Given the description of an element on the screen output the (x, y) to click on. 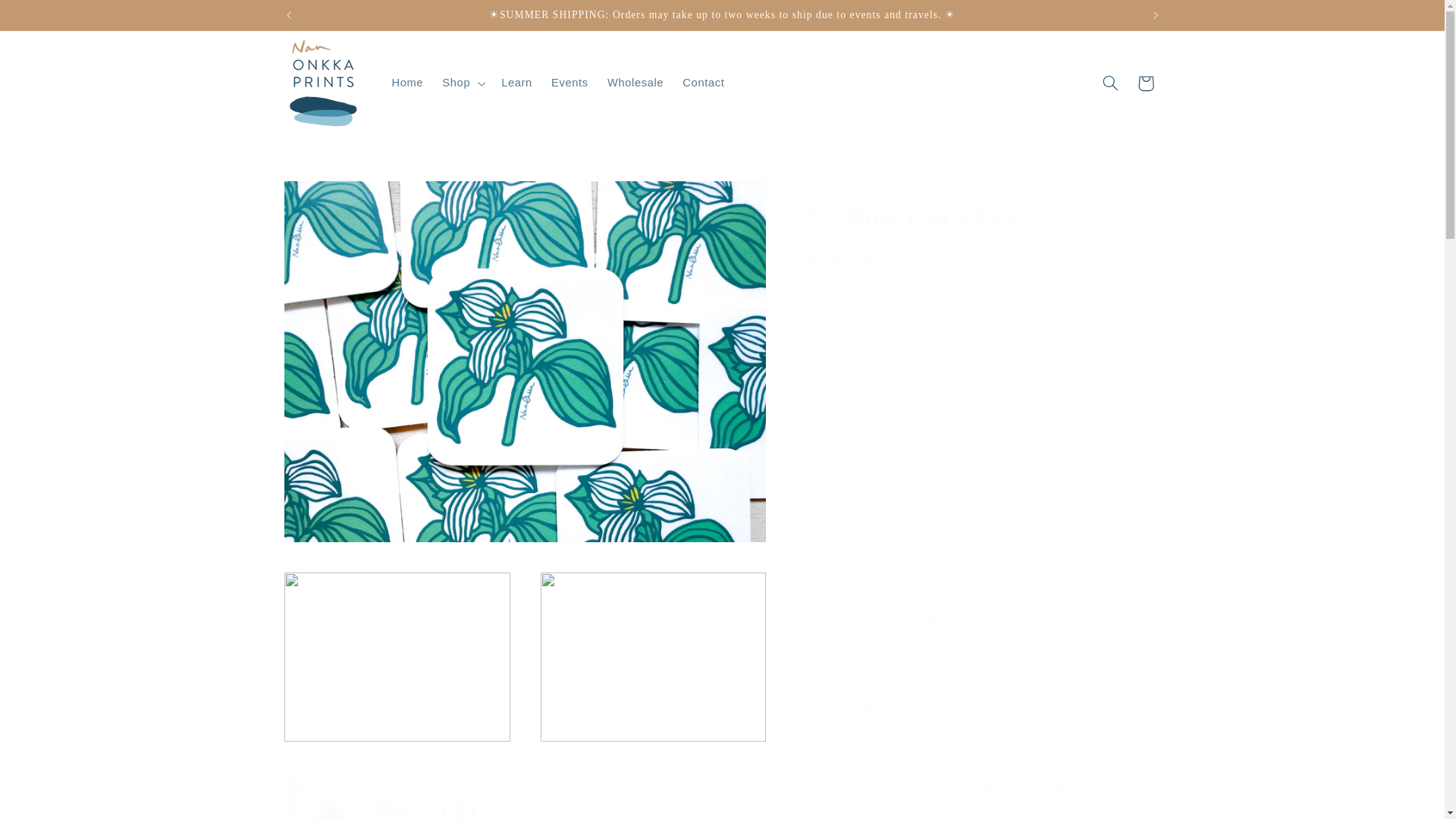
Events (568, 82)
Home (406, 82)
Open media 3 in modal (653, 657)
1 (860, 325)
Wholesale (634, 82)
Open media 2 in modal (397, 657)
Contact (702, 82)
Cart (1145, 83)
Learn (516, 82)
